Given the description of an element on the screen output the (x, y) to click on. 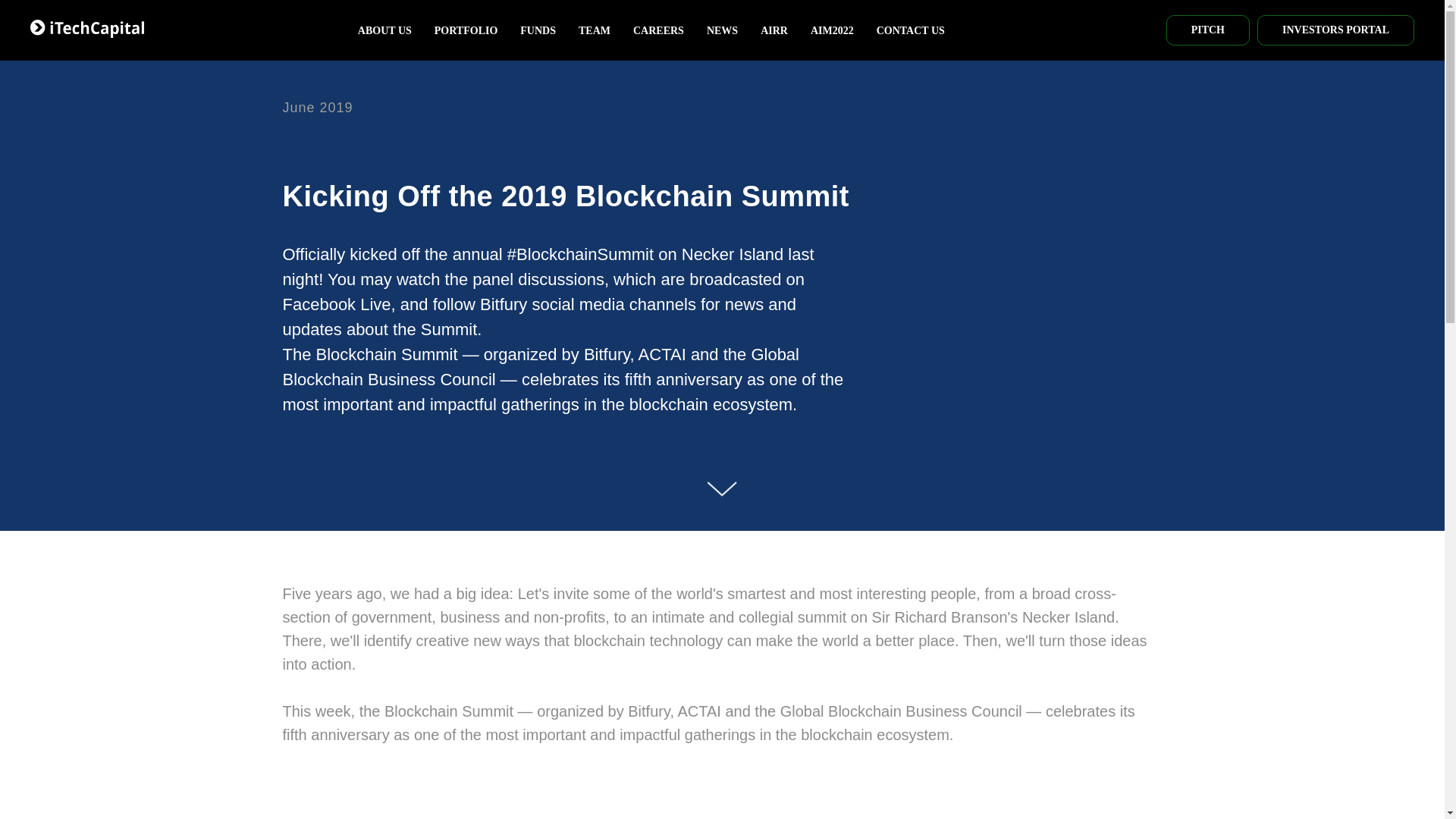
TEAM (594, 30)
CONTACT US (910, 30)
AIM2022 (831, 30)
INVESTORS PORTAL (1335, 30)
PORTFOLIO (465, 30)
PITCH (1207, 30)
FUNDS (537, 30)
AIRR (773, 30)
ABOUT US (385, 30)
CAREERS (658, 30)
NEWS (722, 30)
